Given the description of an element on the screen output the (x, y) to click on. 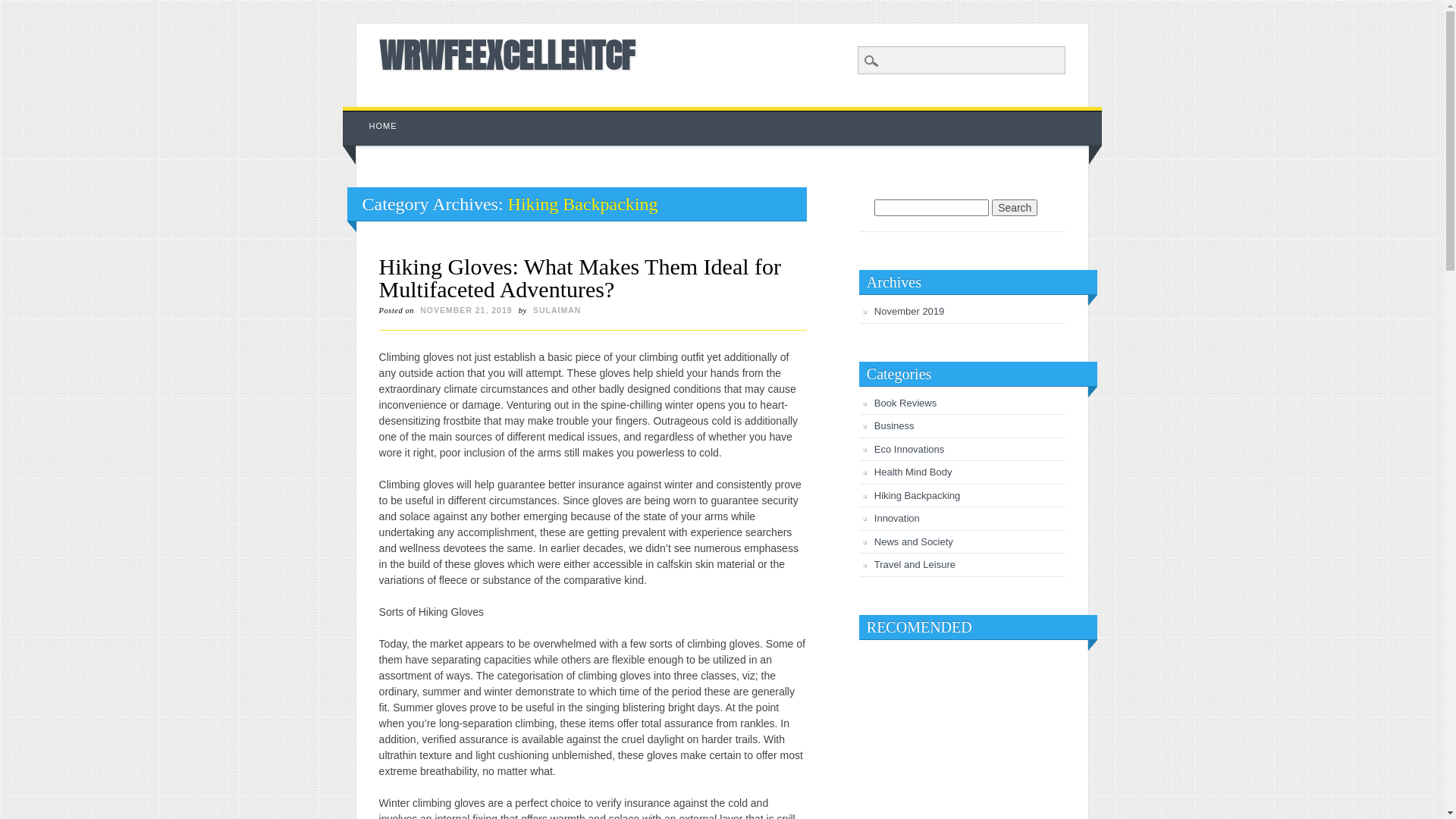
Eco Innovations Element type: text (909, 449)
News and Society Element type: text (913, 541)
WRWFEEXCELLENTCF Element type: text (506, 55)
Search Element type: text (22, 8)
NOVEMBER 21, 2019 Element type: text (465, 309)
Travel and Leisure Element type: text (914, 564)
Business Element type: text (894, 425)
SULAIMAN Element type: text (556, 309)
Search Element type: text (1014, 207)
Book Reviews Element type: text (905, 402)
Health Mind Body Element type: text (913, 471)
Innovation Element type: text (896, 518)
Hiking Backpacking Element type: text (917, 495)
November 2019 Element type: text (909, 310)
Skip to content Element type: text (377, 114)
HOME Element type: text (383, 125)
